Given the description of an element on the screen output the (x, y) to click on. 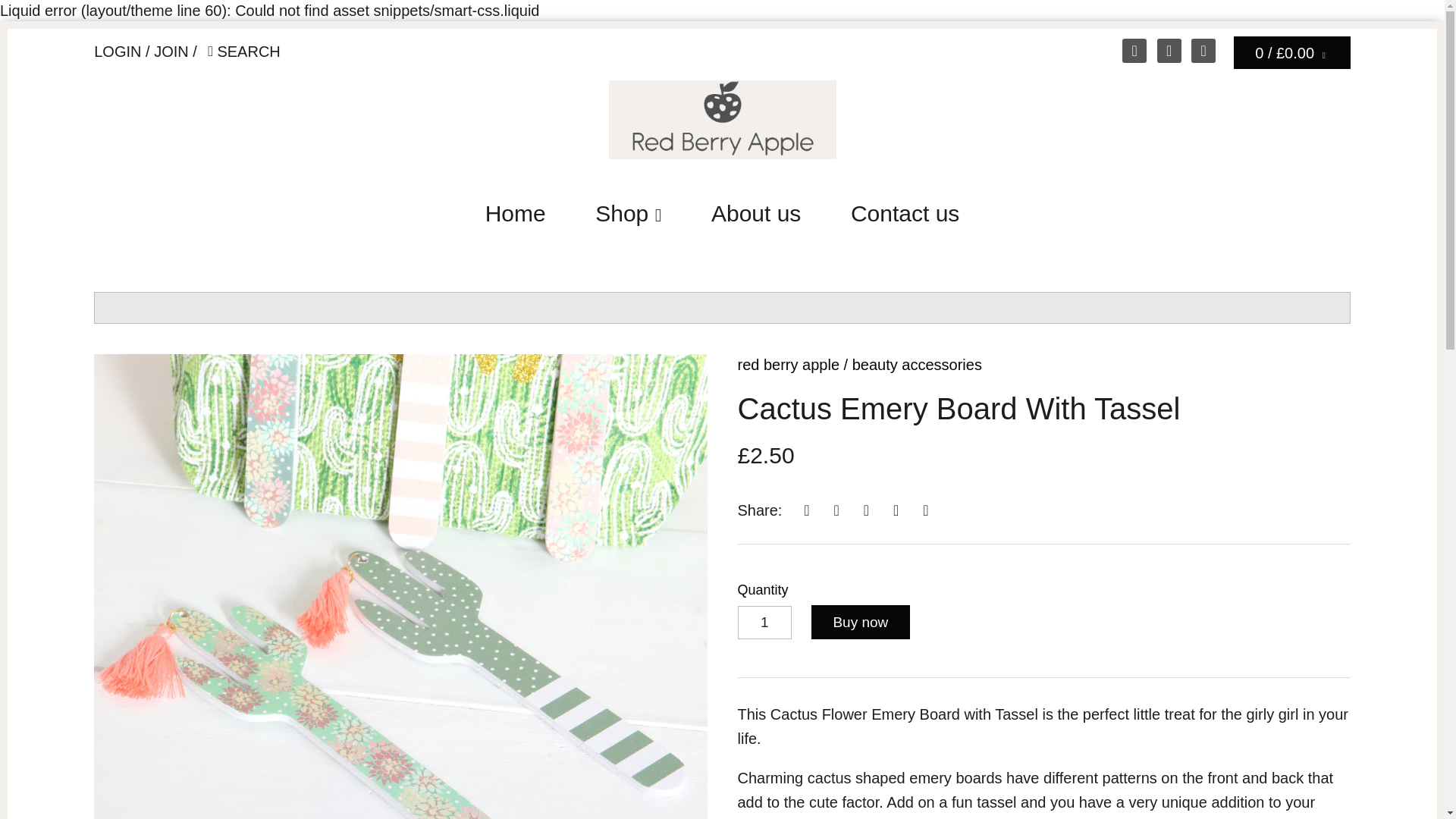
Shop (628, 217)
Contact us (904, 217)
Twitter (1134, 50)
red berry apple (788, 364)
Instagram (1203, 50)
Share on Facebook (806, 510)
Share on Twitter (836, 510)
Share using email (925, 510)
JOIN (171, 51)
Pin the main product image (866, 510)
1 (764, 622)
beauty accessories (916, 364)
About us (756, 217)
Facebook (1168, 50)
